Given the description of an element on the screen output the (x, y) to click on. 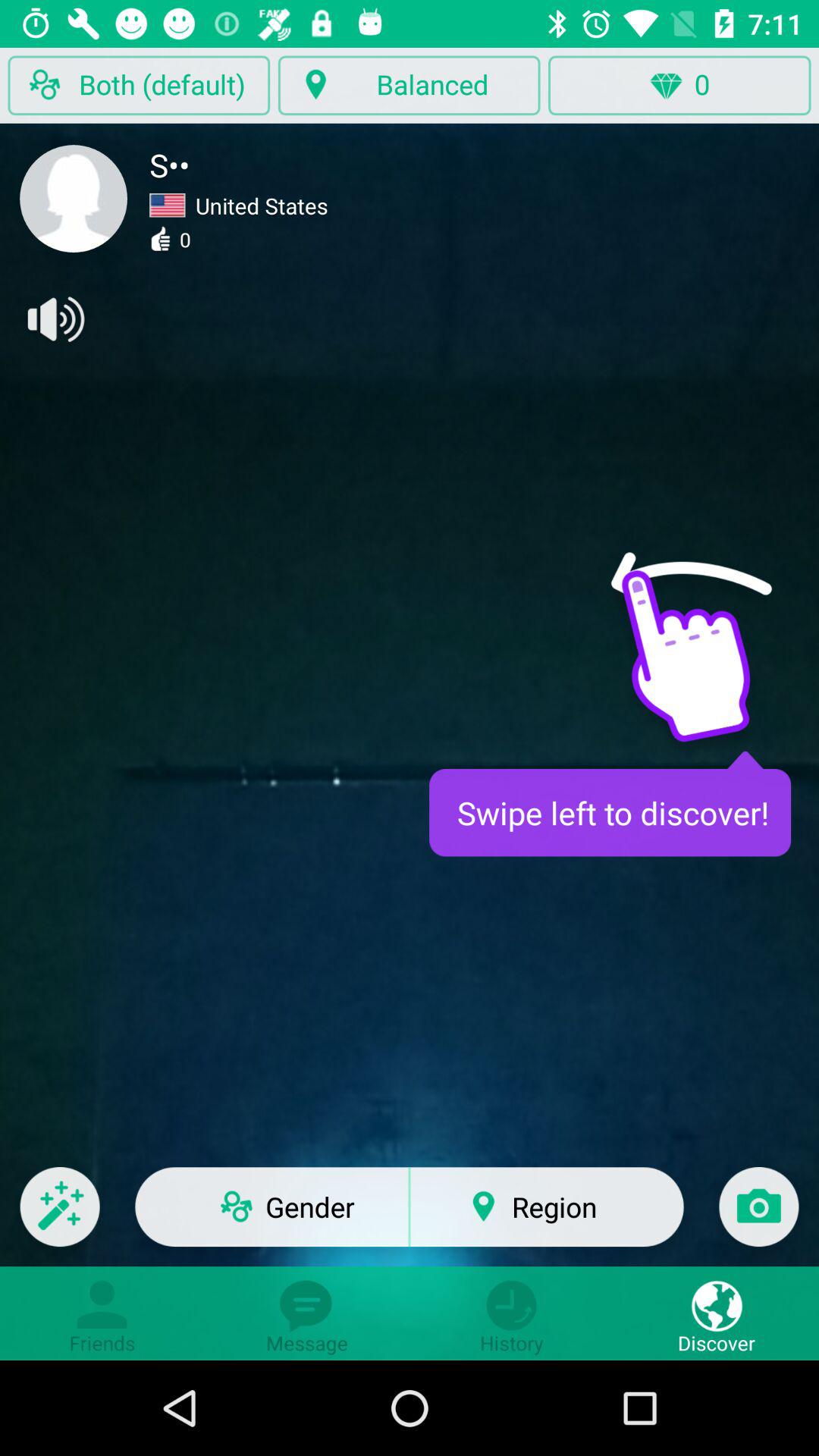
view user profile (73, 198)
